Given the description of an element on the screen output the (x, y) to click on. 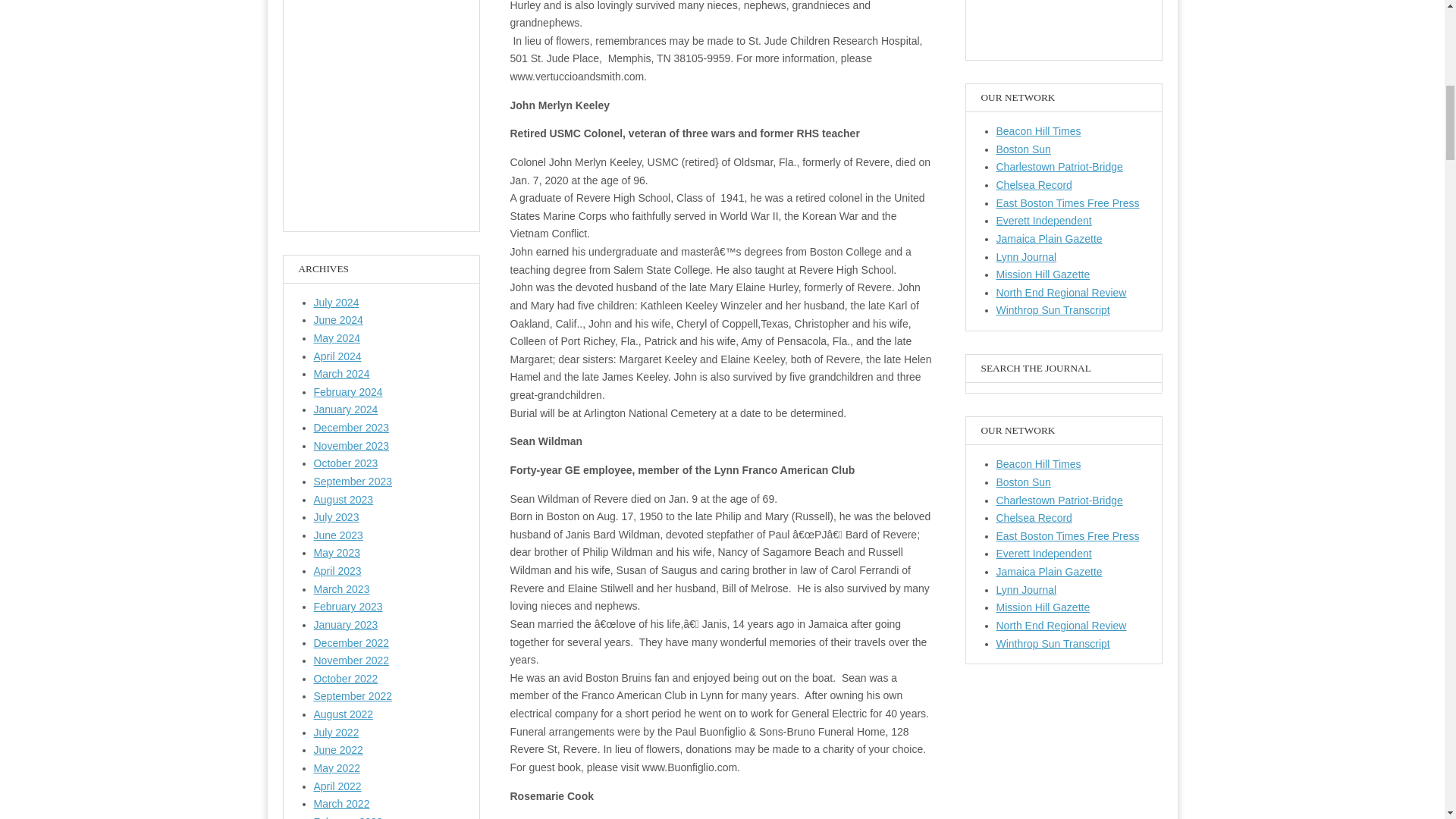
Winthrop Sun Transcript (1052, 644)
Lynn Journal (1026, 256)
Everett Independent (1043, 220)
East Boston Times Free Press (1067, 535)
East Boston Times Free Press (1067, 203)
Winthrop Sun Transcript (1052, 309)
Everett Independent (1043, 553)
Chelsea Record (1033, 517)
Chelsea Record (1033, 184)
Lynn Journal (1026, 589)
